Given the description of an element on the screen output the (x, y) to click on. 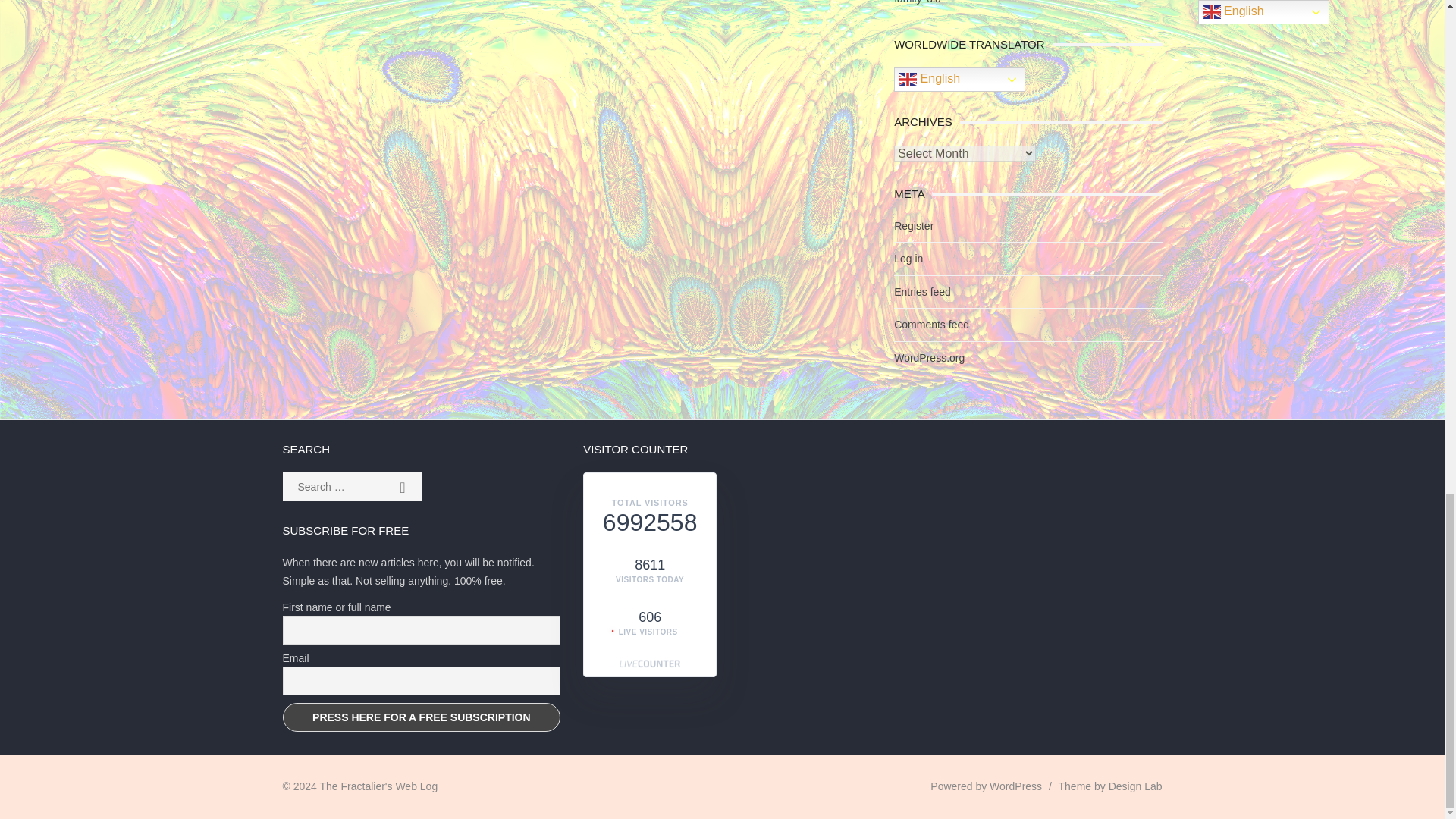
Press Here For A Free Subscription (421, 717)
